Given the description of an element on the screen output the (x, y) to click on. 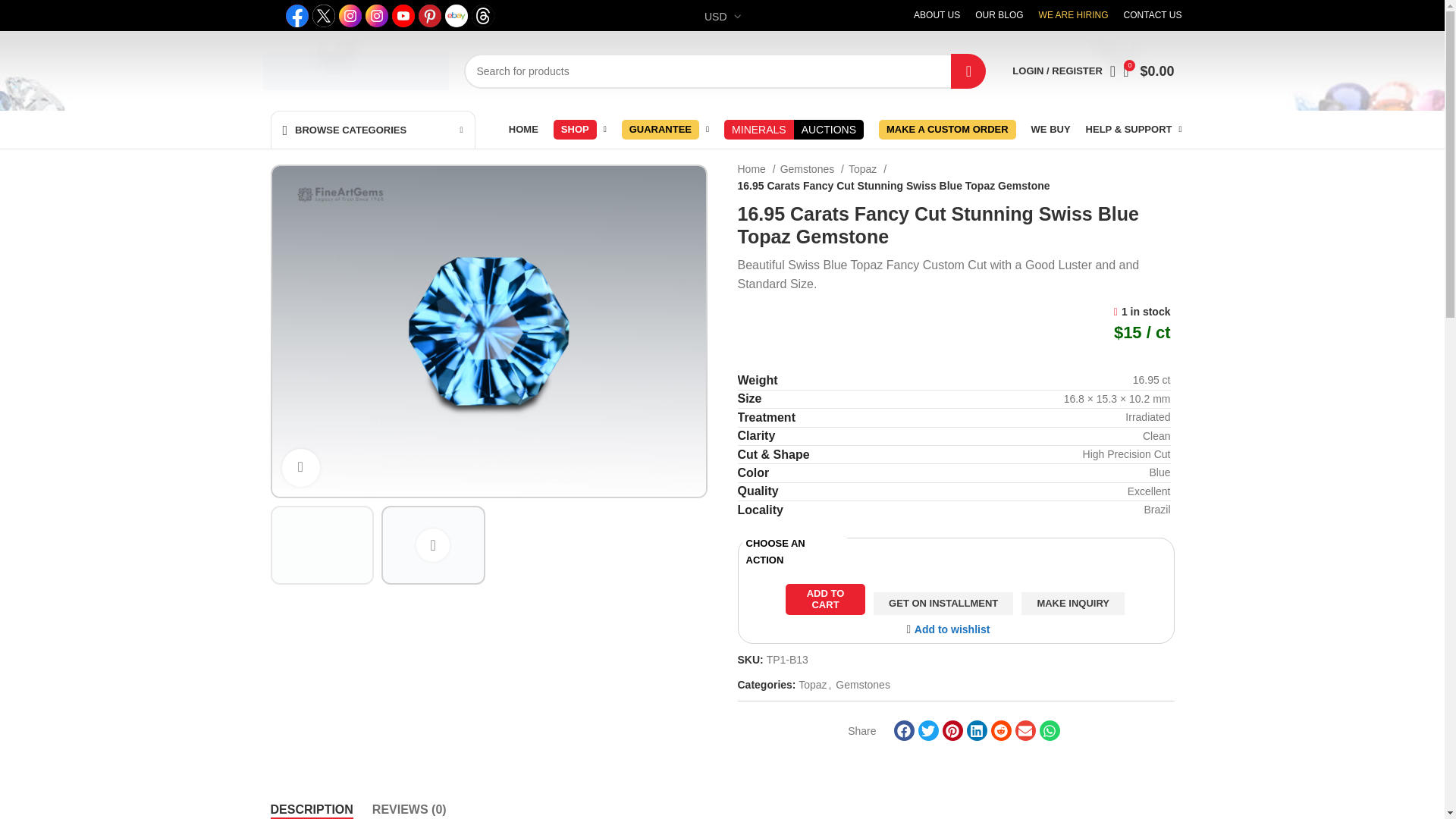
Search for products (725, 70)
Shopping cart (1151, 71)
OUR BLOG (999, 15)
My account (1060, 71)
CONTACT US (1153, 15)
ABOUT US (936, 15)
WE ARE HIRING (1073, 15)
SEARCH (967, 70)
